Given the description of an element on the screen output the (x, y) to click on. 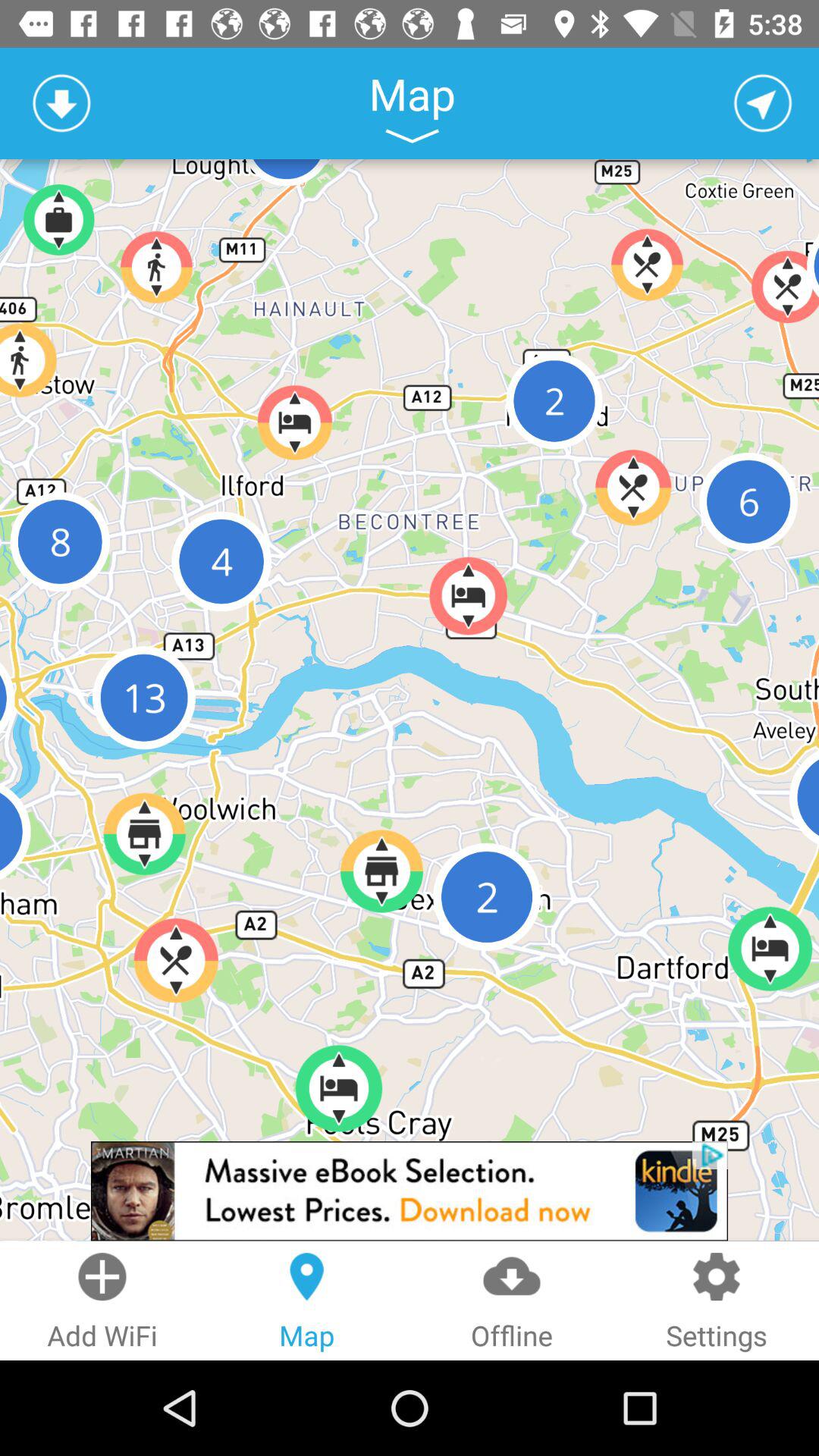
download (61, 103)
